Given the description of an element on the screen output the (x, y) to click on. 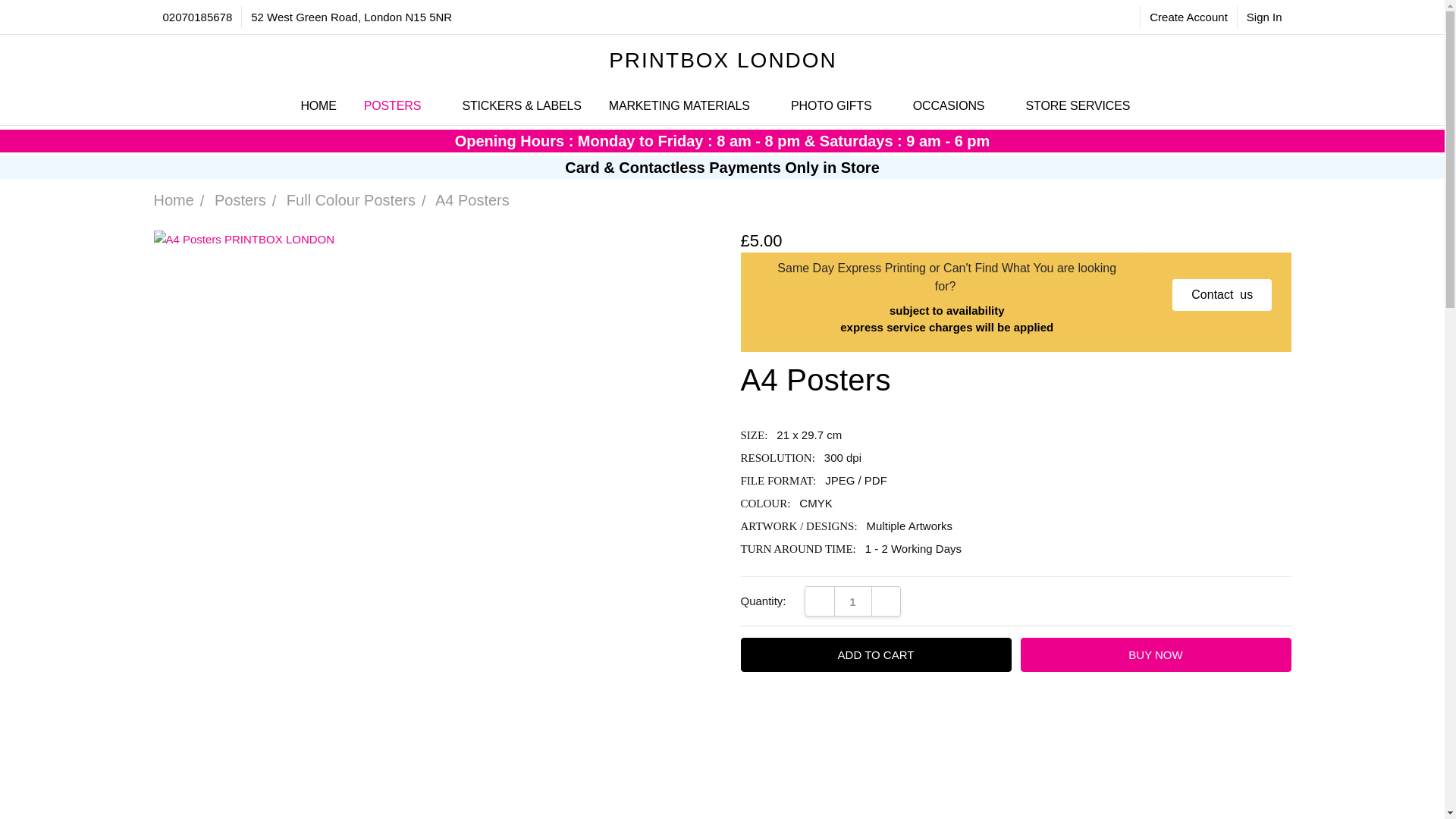
Create Account (1188, 16)
52 West Green Road, London N15 5NR (351, 16)
PRINTBOX LONDON (1063, 94)
HOME (317, 105)
POSTERS (399, 105)
MARKETING MATERIALS (686, 105)
PHOTO GIFTS (838, 105)
1 (852, 601)
Show All (743, 105)
